Given the description of an element on the screen output the (x, y) to click on. 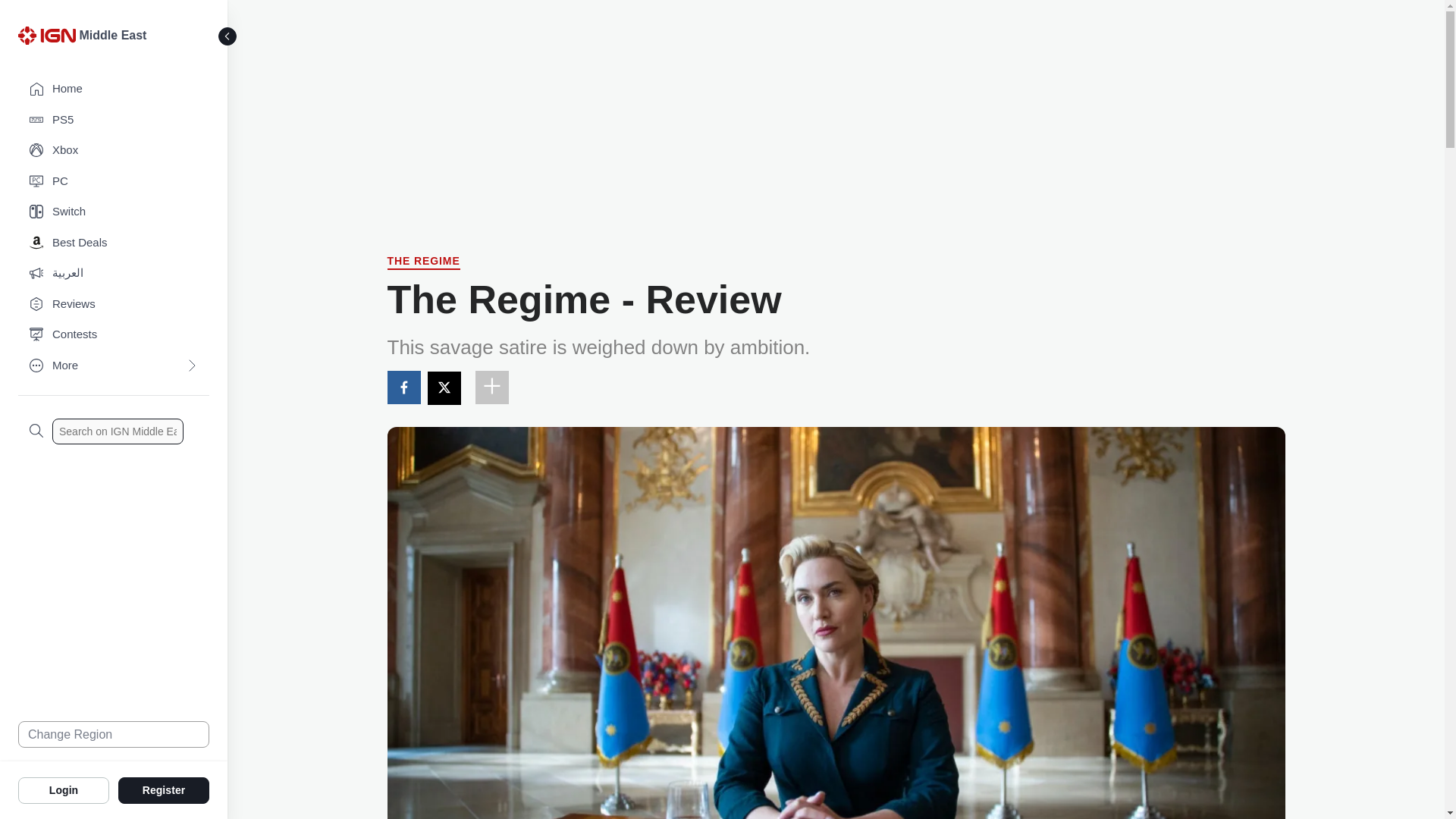
PS5 (113, 119)
Switch (113, 211)
IGN Logo (48, 39)
Contests (113, 334)
THE REGIME (423, 262)
Home (113, 89)
Reviews (113, 304)
Register (163, 789)
Login (63, 789)
PC (113, 181)
IGN Logo (46, 34)
The Regime (423, 262)
Toggle Sidebar (226, 36)
More (113, 365)
Xbox (113, 150)
